Given the description of an element on the screen output the (x, y) to click on. 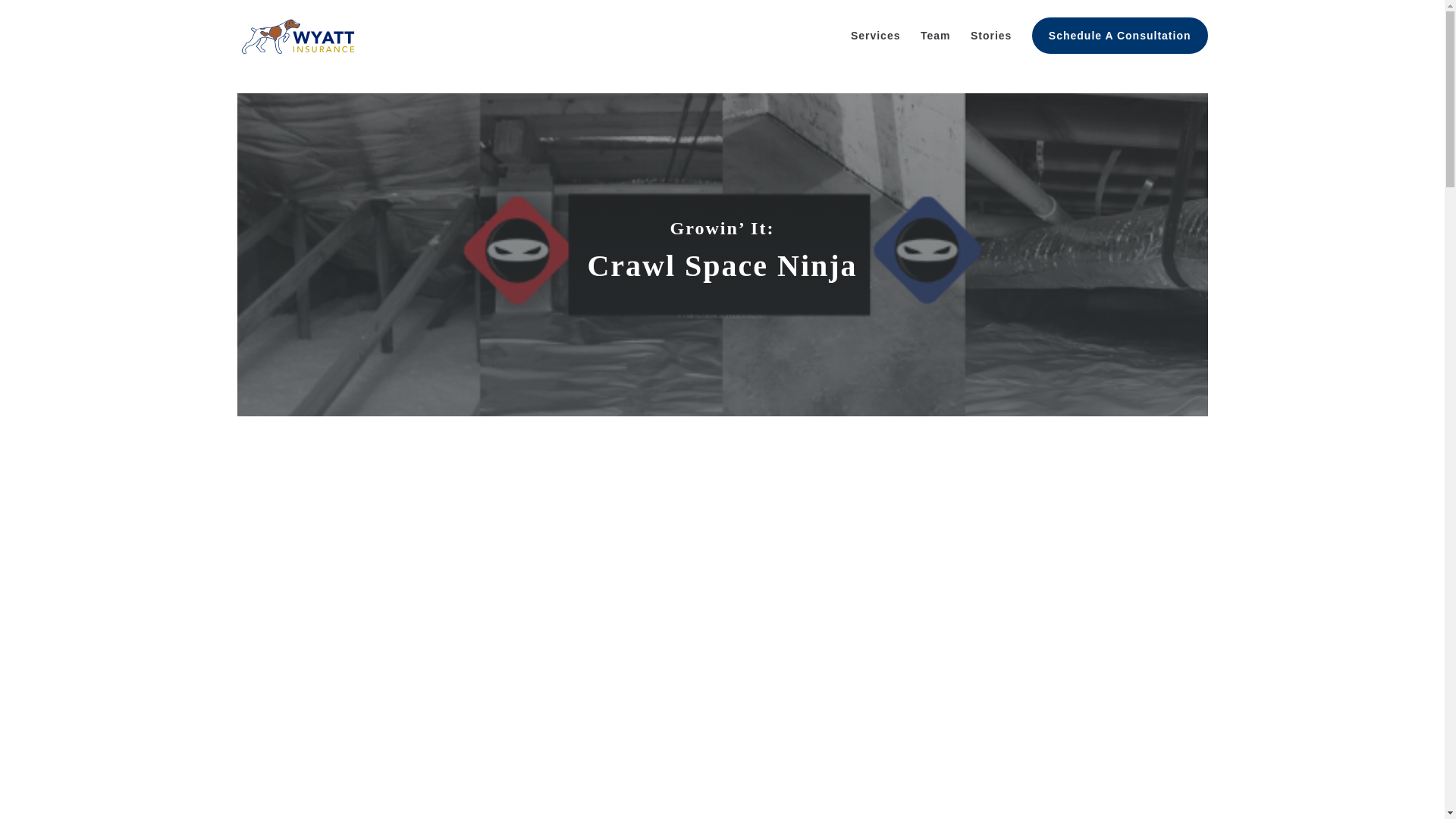
Services (875, 48)
Stories (991, 48)
Schedule A Consultation (1120, 35)
